Given the description of an element on the screen output the (x, y) to click on. 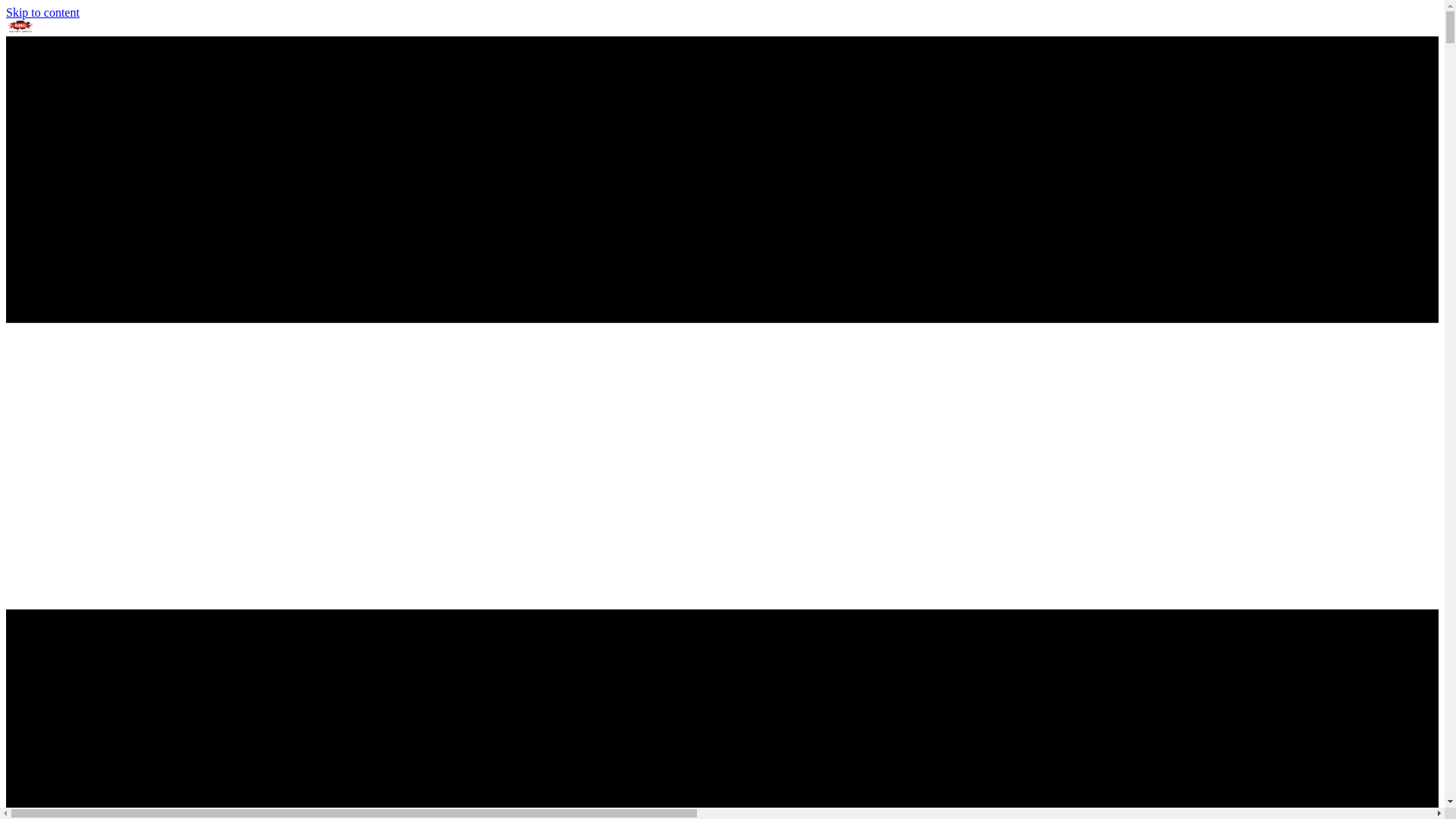
Skip to content Element type: text (42, 12)
